Given the description of an element on the screen output the (x, y) to click on. 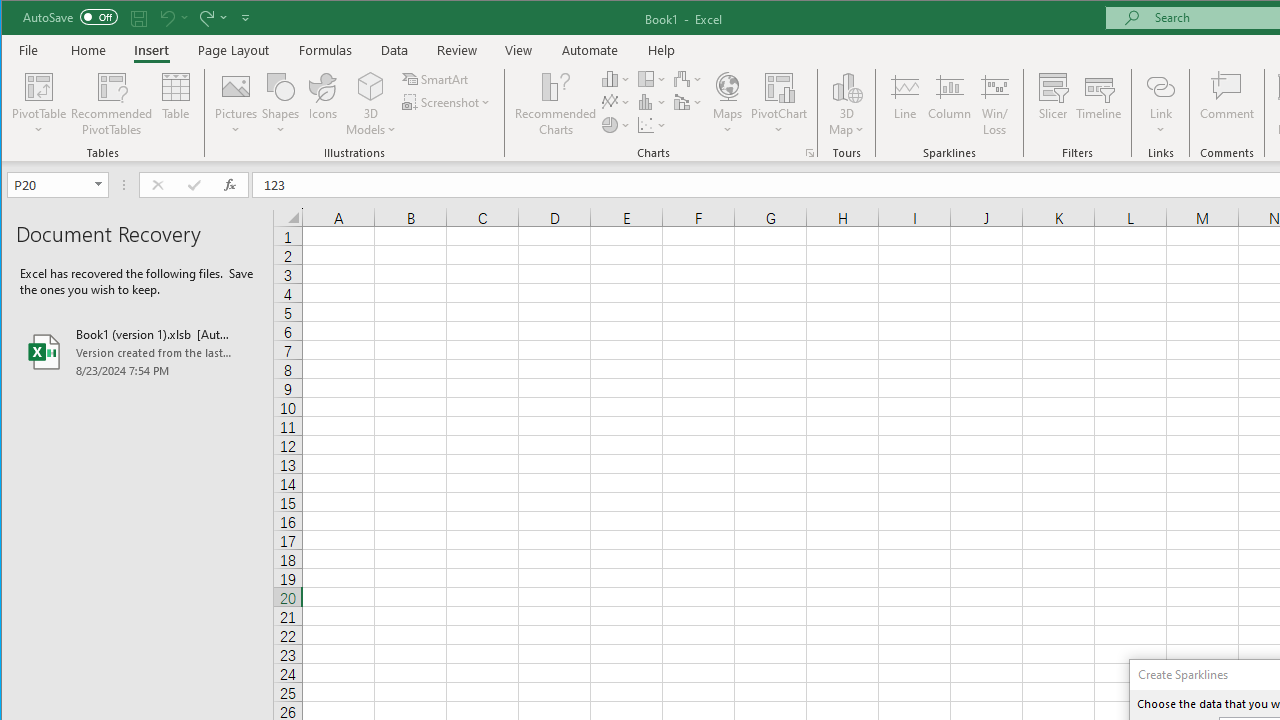
Timeline (1098, 104)
Pictures (235, 104)
Insert Waterfall, Funnel, Stock, Surface, or Radar Chart (688, 78)
Icons (323, 104)
3D Map (846, 104)
Comment (1227, 104)
Win/Loss (995, 104)
Insert Scatter (X, Y) or Bubble Chart (652, 124)
SmartArt... (436, 78)
